Given the description of an element on the screen output the (x, y) to click on. 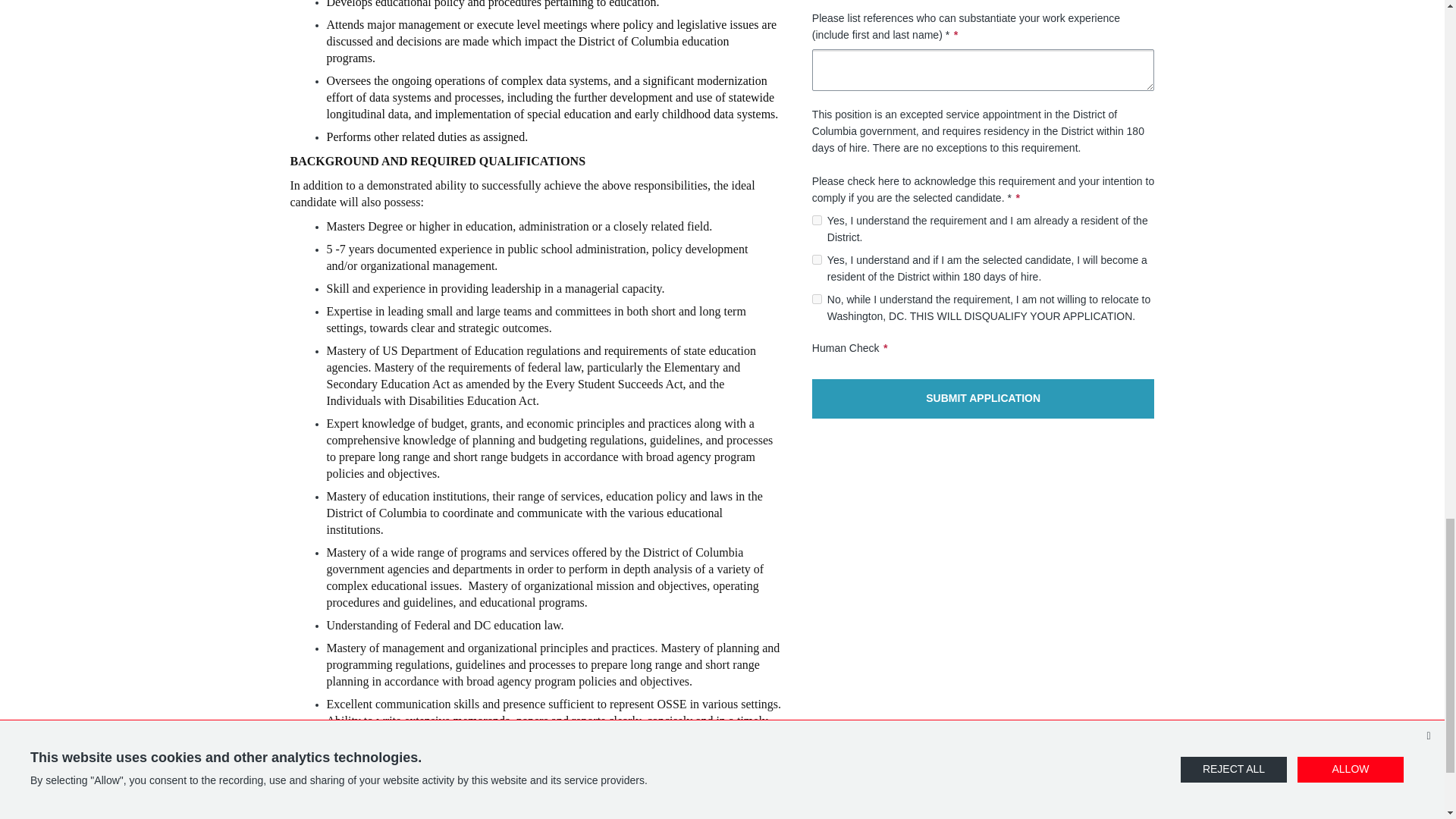
SUBMIT APPLICATION (983, 398)
